Given the description of an element on the screen output the (x, y) to click on. 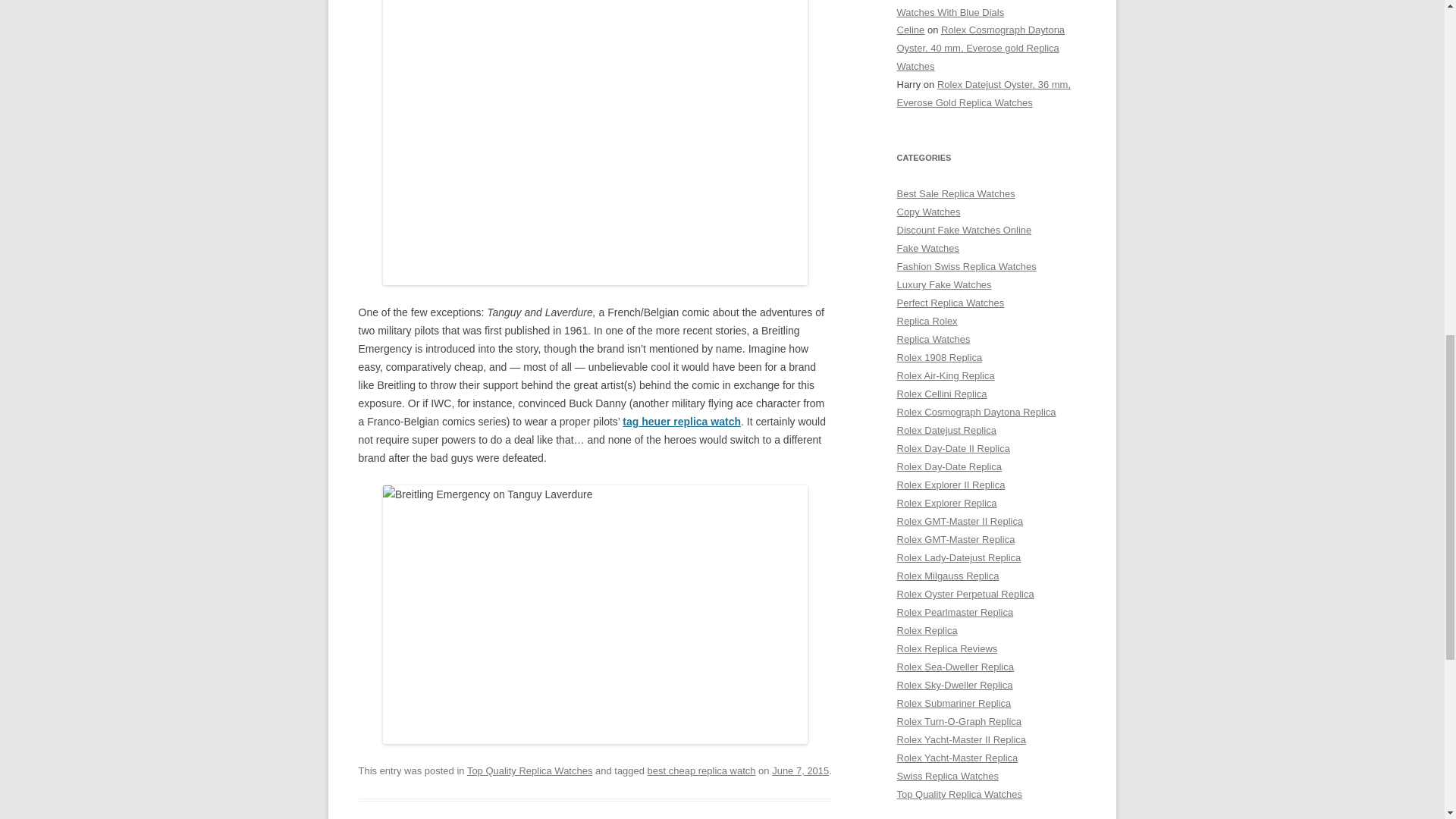
10:38 pm (799, 770)
Rolex Datejust Replica (945, 430)
tag heuer replica watch (682, 421)
Rolex Datejust Oyster, 36 mm, Everose Gold Replica Watches (983, 93)
Fashion Swiss Replica Watches (965, 266)
Best Sale Replica Watches (955, 193)
Rolex Day-Date II Replica (952, 448)
Fake Watches (927, 247)
Rolex Cosmograph Daytona Replica (975, 411)
Celine (910, 30)
Luxury Fake Watches (943, 284)
Copy Watches (927, 211)
Replica Rolex (926, 320)
